Given the description of an element on the screen output the (x, y) to click on. 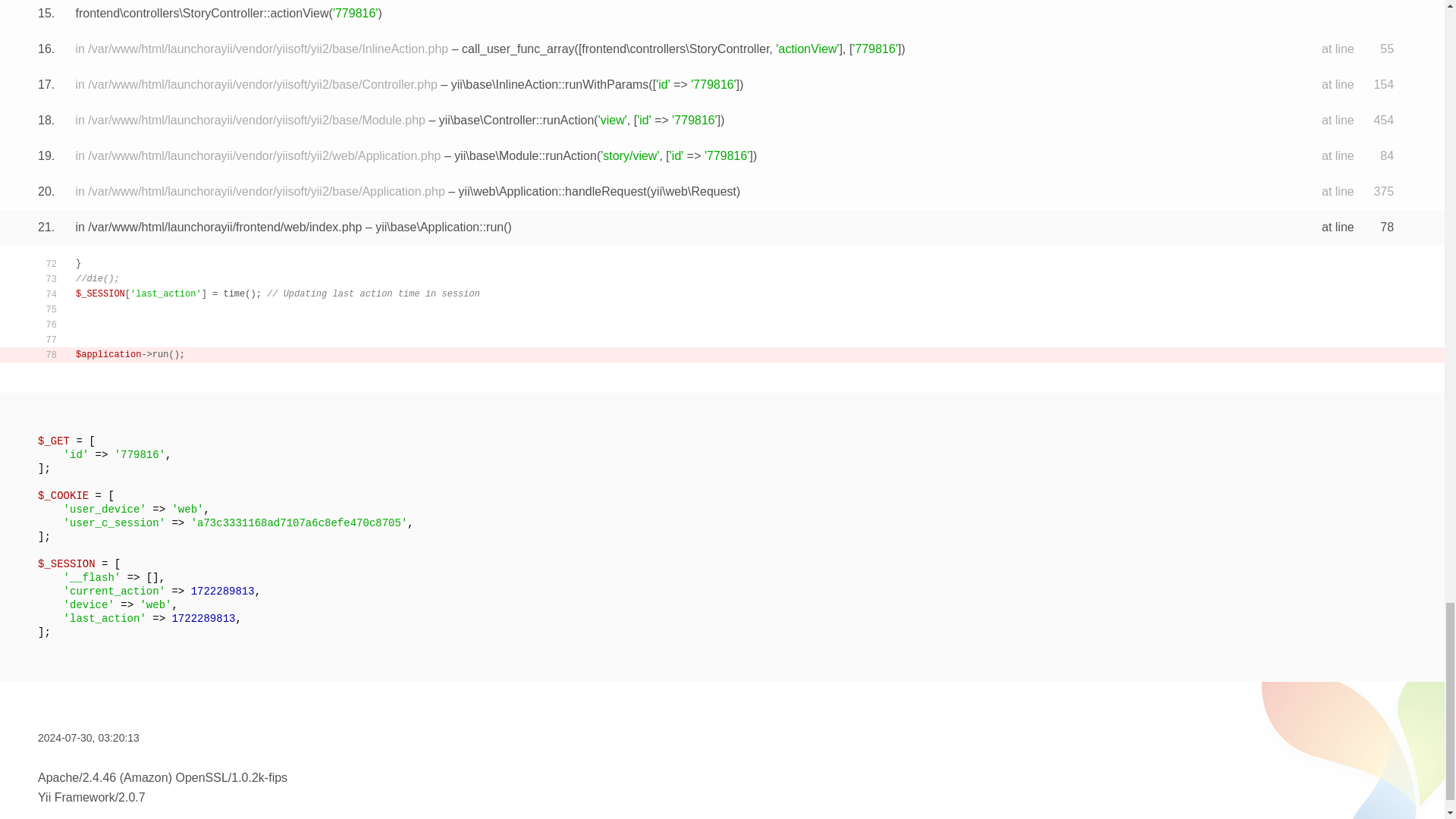
Yii Framework (76, 797)
2.0.7 (131, 797)
